Given the description of an element on the screen output the (x, y) to click on. 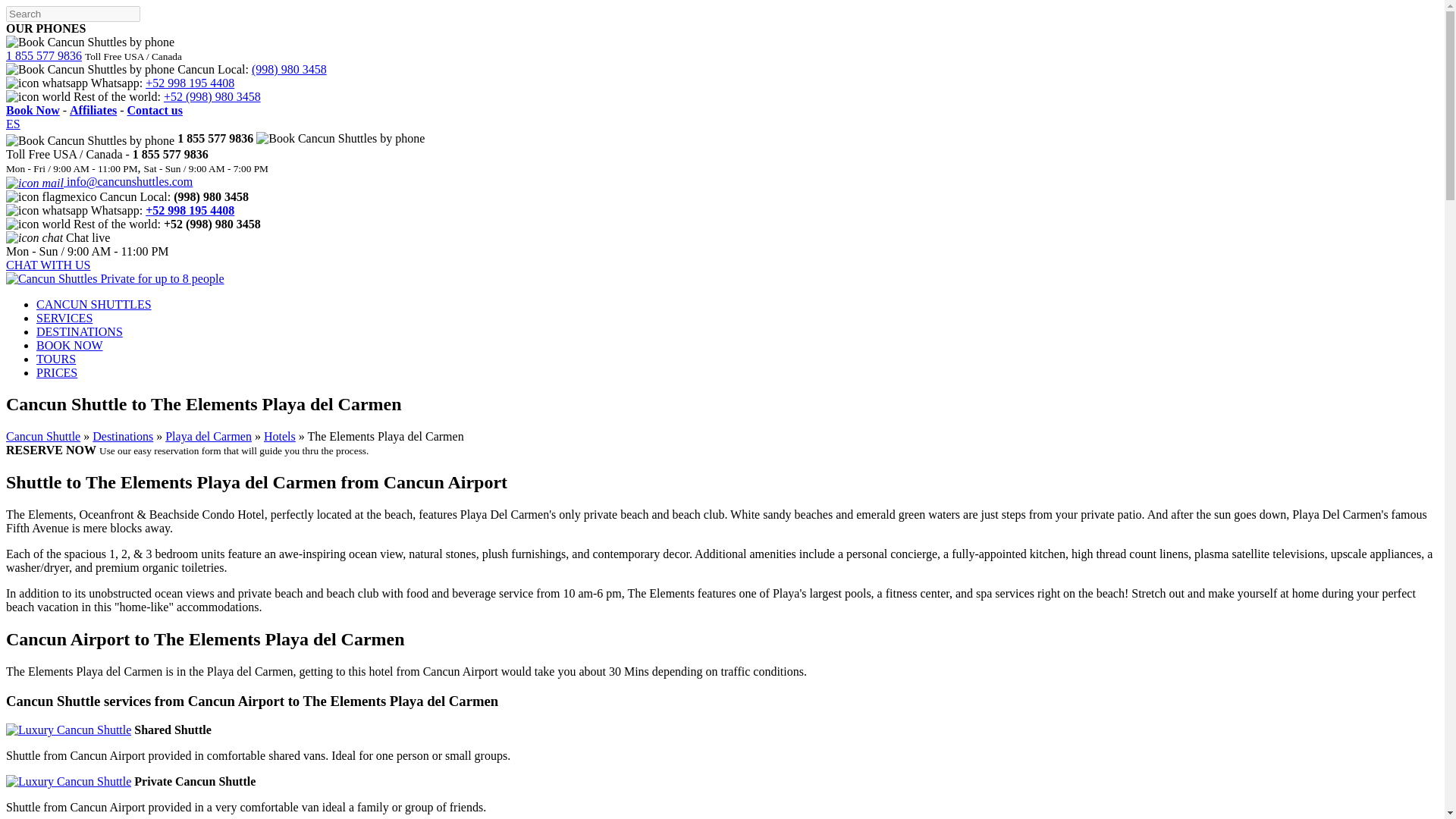
Cancun to Playa del Carmen Shuttle (279, 436)
PRICES (56, 372)
Contact us (155, 110)
SERVICES (64, 318)
CANCUN SHUTTLES (93, 304)
Call Cancun Shuttles from Mexico (340, 138)
Playa del Carmen (208, 436)
Cancun Shuttle (42, 436)
Hotels (279, 436)
Cancun Shuttle from Cancun to Tulum (122, 436)
